Given the description of an element on the screen output the (x, y) to click on. 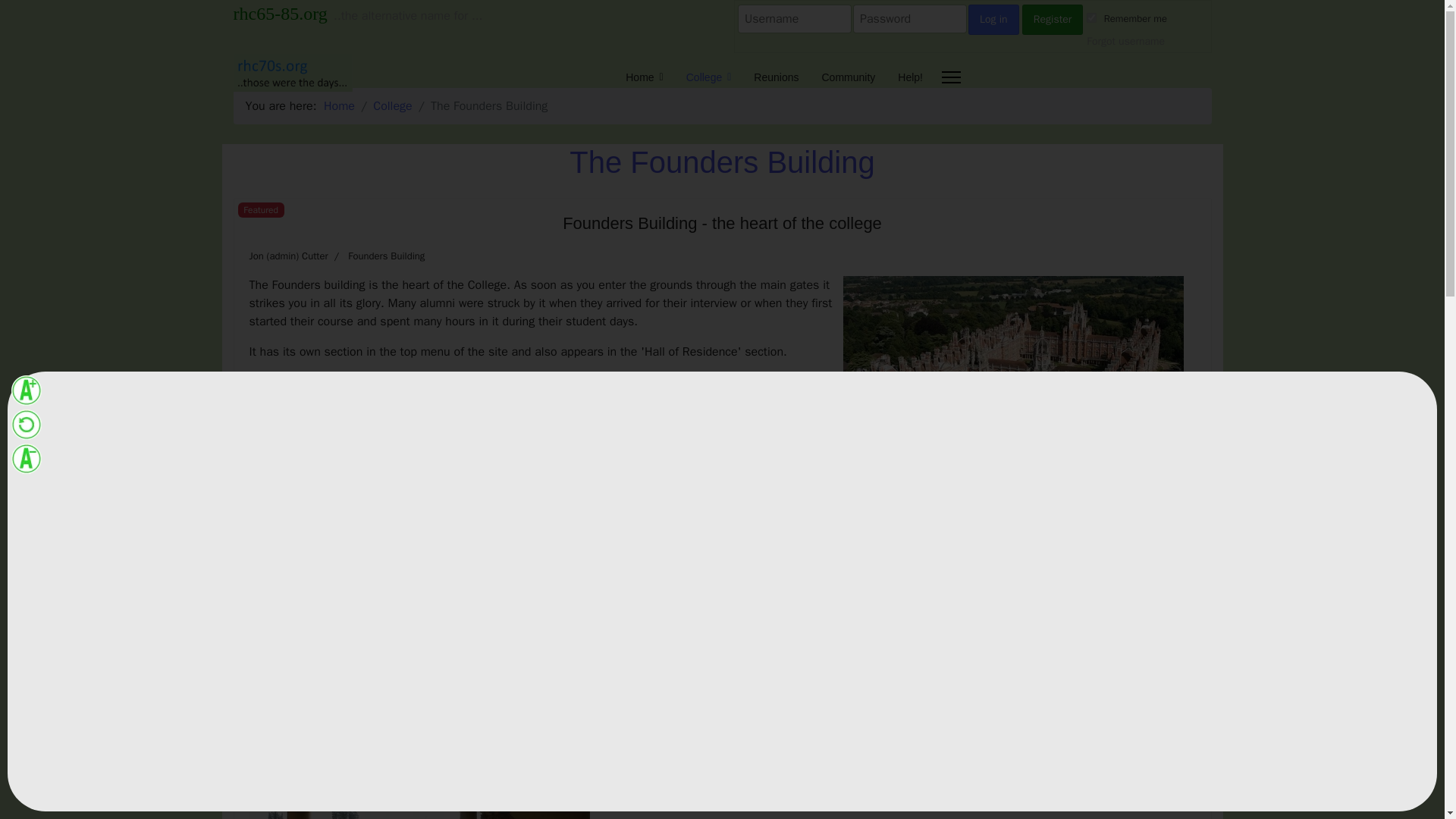
Category: Founders Building (377, 255)
Founders Building (386, 255)
Home (644, 77)
Increase Font (26, 390)
Founders Building - the heart of the college (722, 222)
Forgot username (1125, 41)
Help! (904, 77)
Reunions (775, 77)
Home (339, 105)
College (708, 77)
Register (1052, 19)
Reset (26, 424)
Decrease Font (26, 458)
Community (847, 77)
Log in (993, 19)
